Given the description of an element on the screen output the (x, y) to click on. 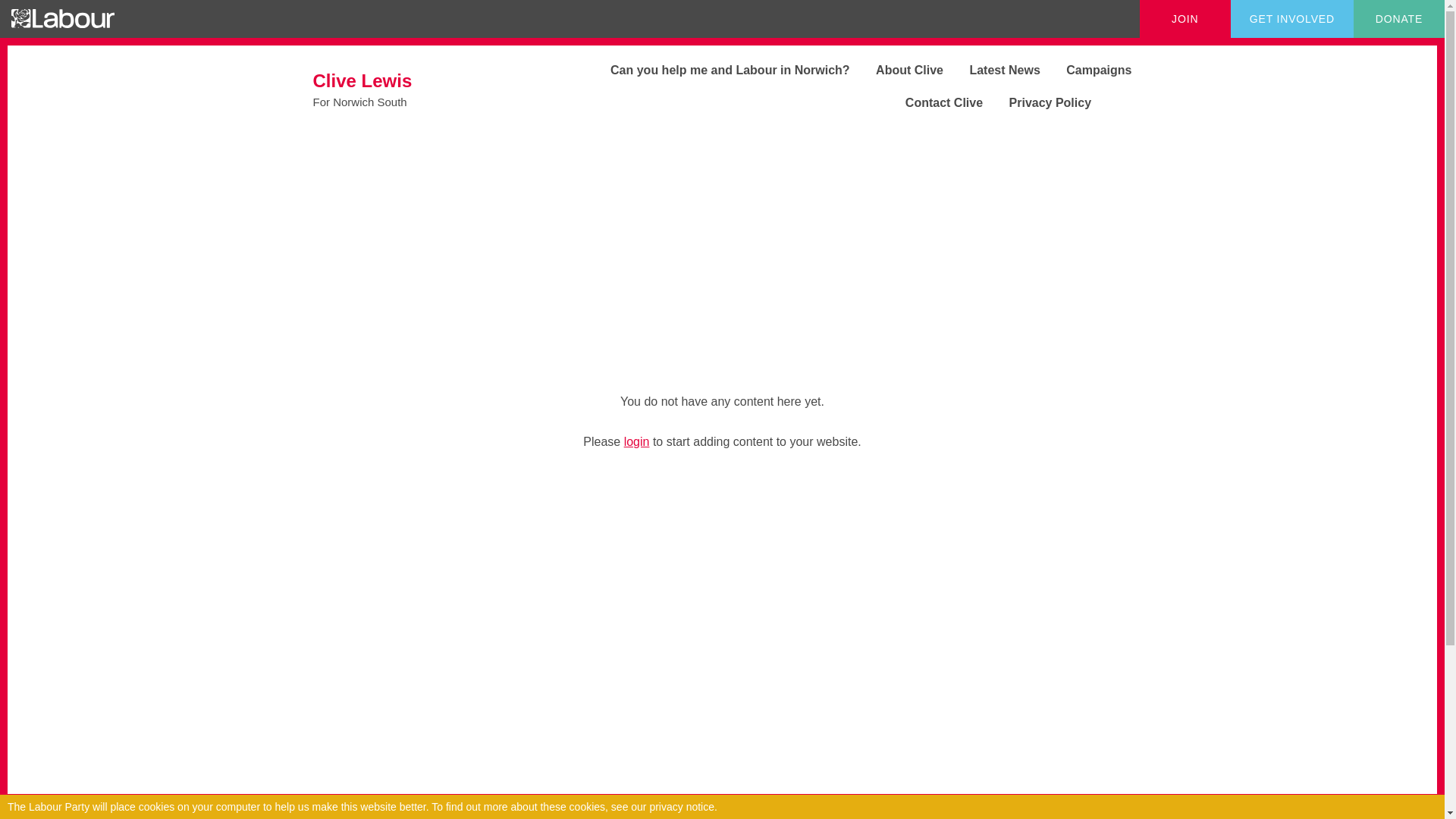
Latest News (992, 69)
login (636, 440)
Can you help me and Labour in Norwich? (719, 69)
Privacy Policy (1039, 102)
Contact Clive (404, 88)
GET INVOLVED (932, 102)
About Clive (1292, 18)
Campaigns (898, 69)
JOIN (1087, 69)
